Given the description of an element on the screen output the (x, y) to click on. 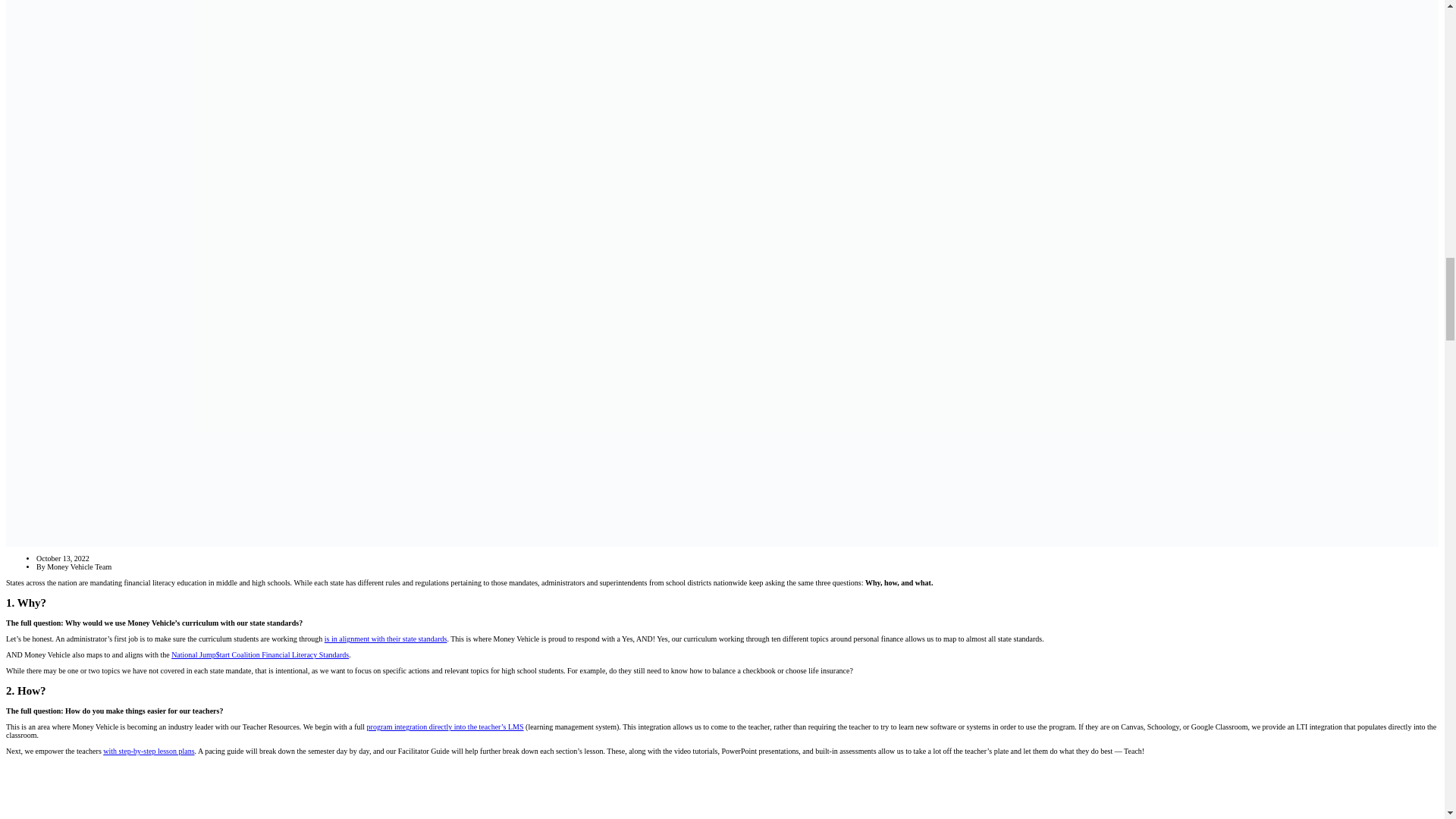
Money Vehicle Program Introduction (290, 790)
